Given the description of an element on the screen output the (x, y) to click on. 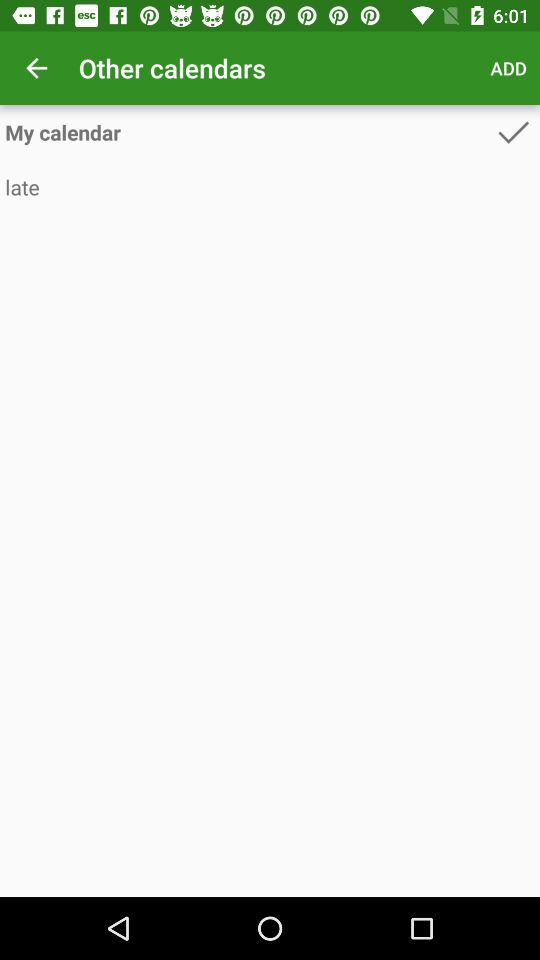
launch the icon above the my calendar icon (508, 67)
